Given the description of an element on the screen output the (x, y) to click on. 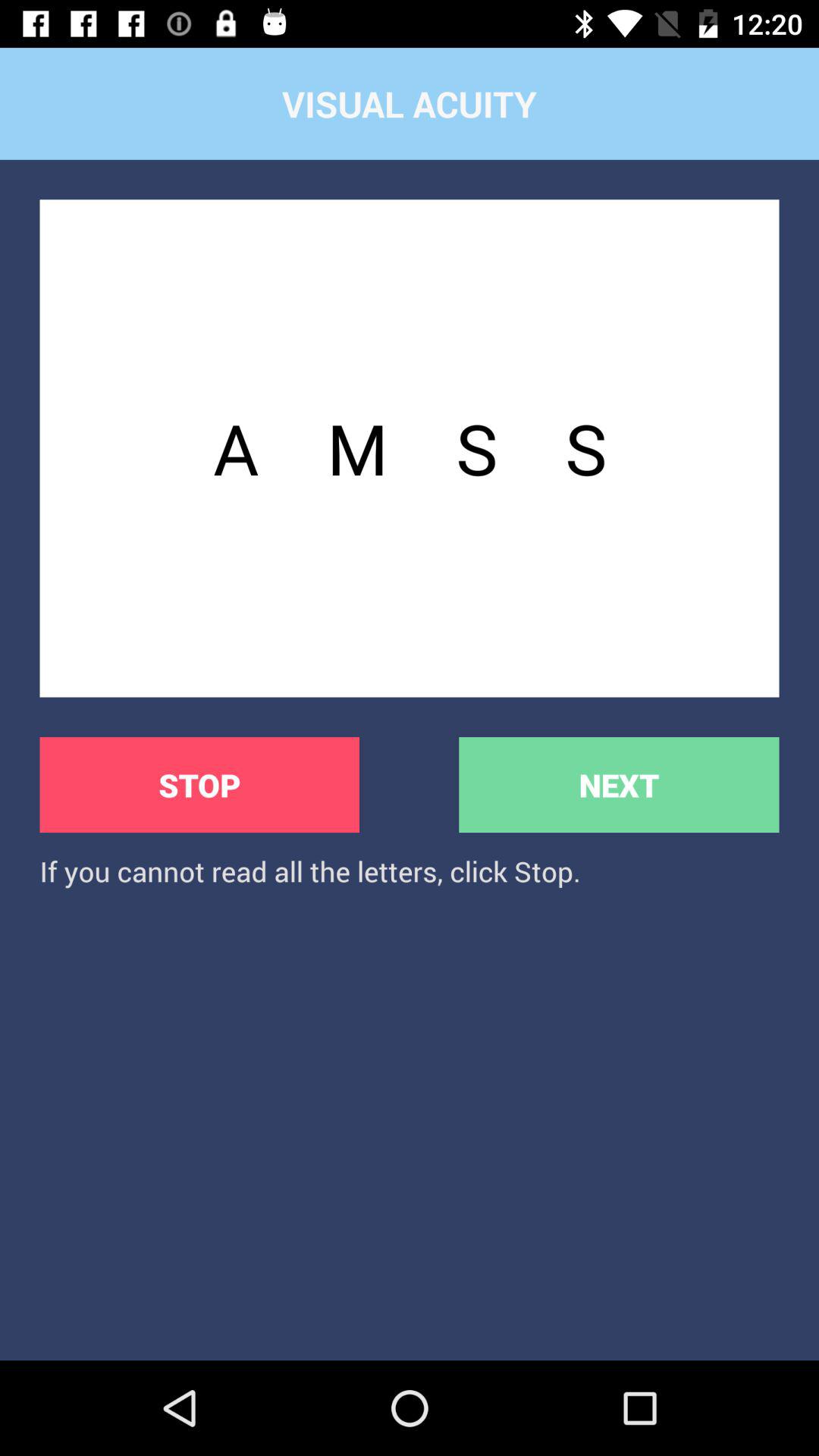
select the icon above the if you cannot (618, 784)
